Given the description of an element on the screen output the (x, y) to click on. 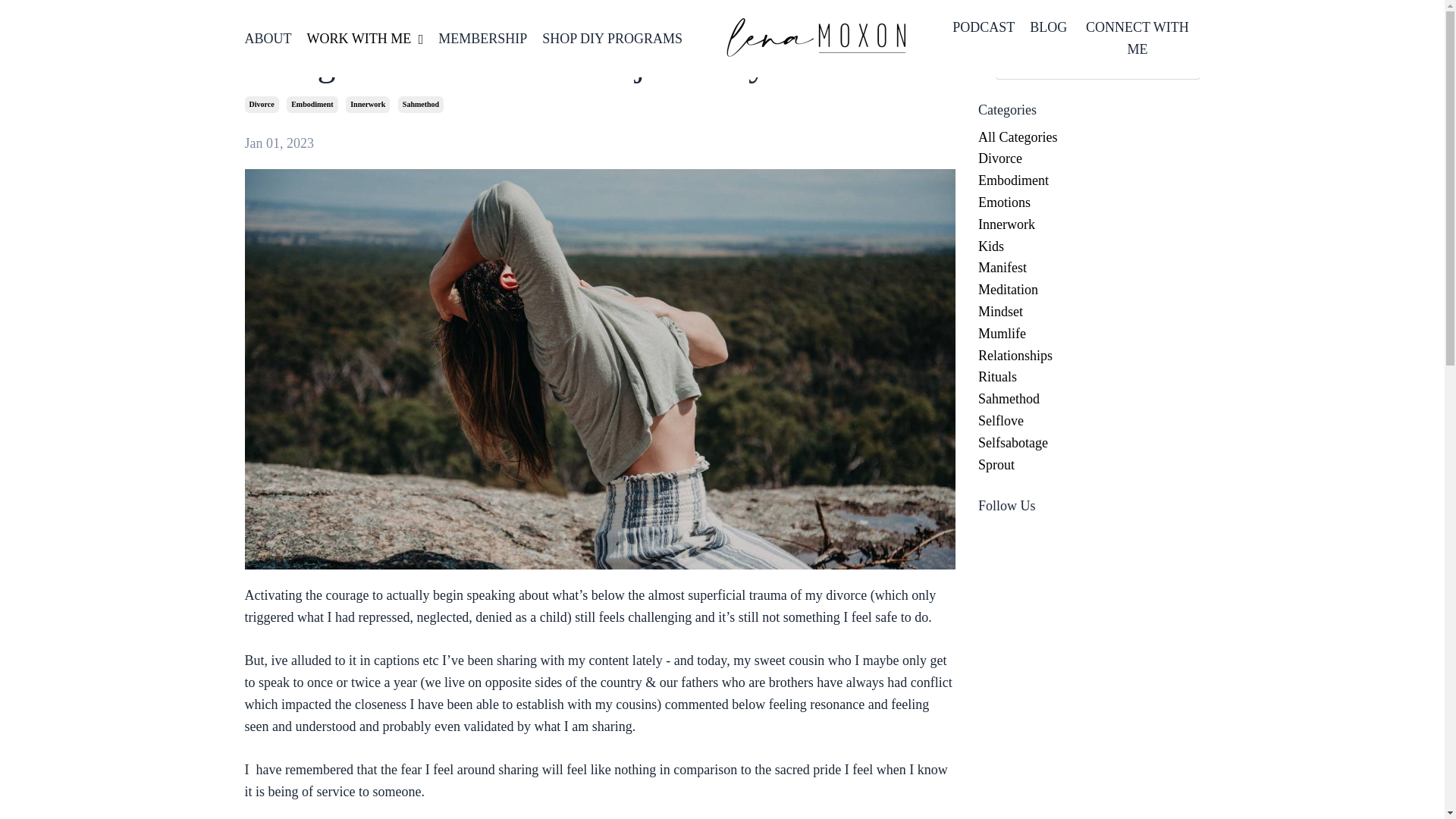
Innerwork (368, 104)
Innerwork (1088, 224)
MEMBERSHIP (482, 38)
Sahmethod (1088, 399)
Mindset (1088, 311)
CONNECT WITH ME (1136, 38)
Kids (1088, 246)
Sahmethod (420, 104)
PODCAST (983, 38)
Embodiment (311, 104)
